Given the description of an element on the screen output the (x, y) to click on. 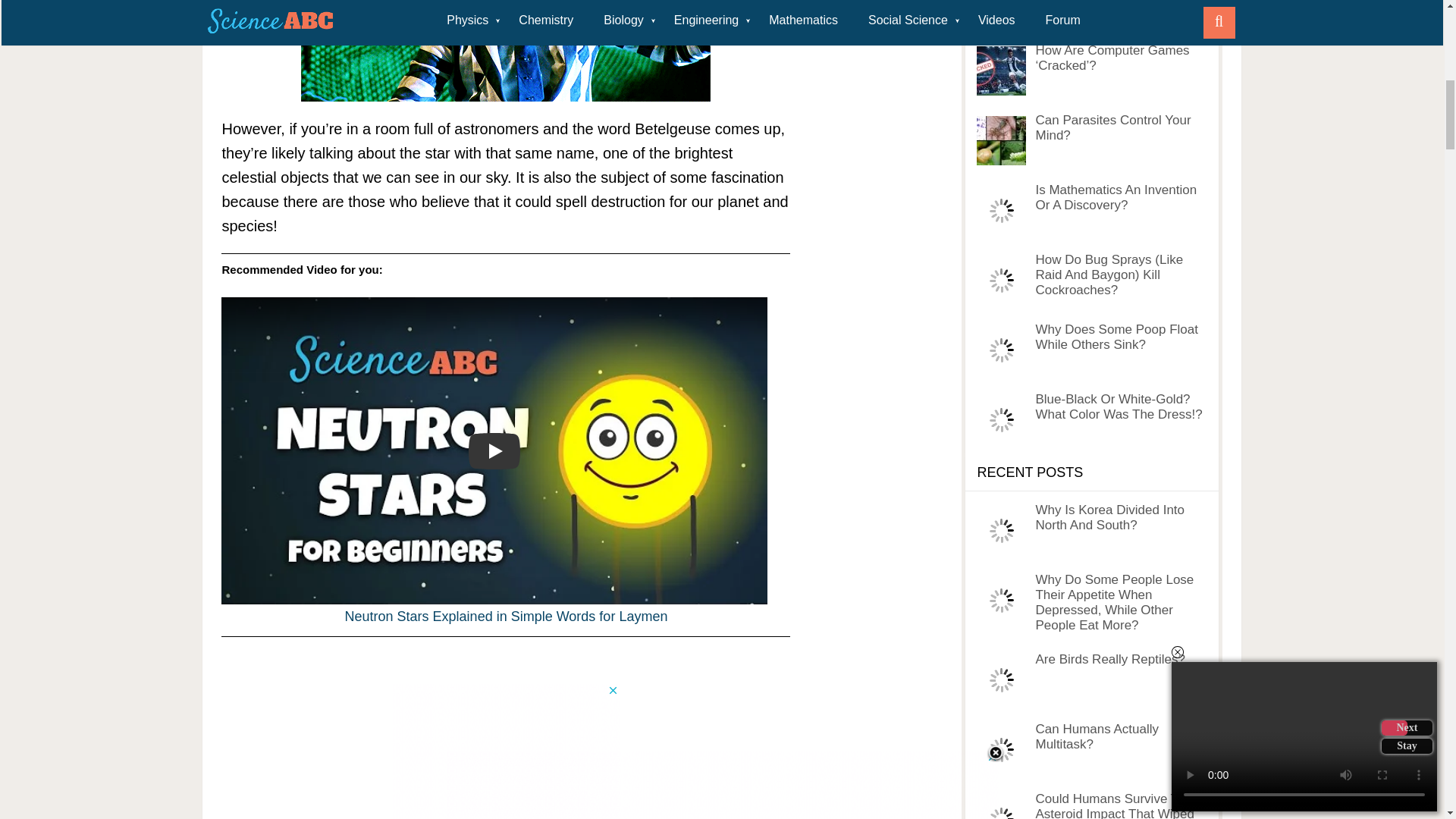
3rd party ad content (505, 751)
